Given the description of an element on the screen output the (x, y) to click on. 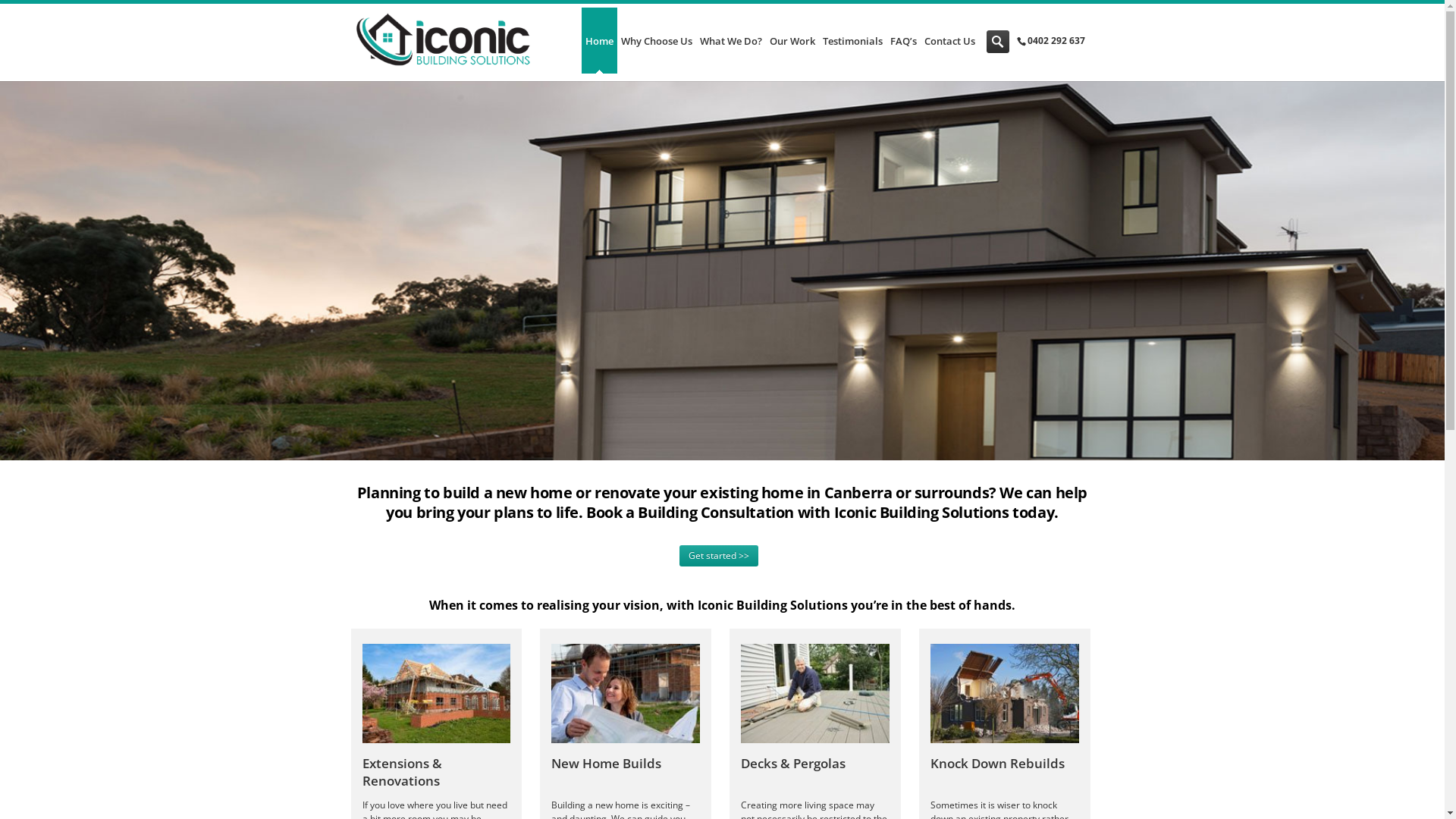
What We Do? Element type: text (730, 40)
Extensions & Renovations Element type: text (402, 772)
Our Work Element type: text (791, 40)
Knock Down Rebuilds Element type: text (997, 762)
Get started >> Element type: text (718, 555)
New Home Builds Element type: text (606, 762)
Why Choose Us Element type: text (655, 40)
Home Element type: text (599, 40)
Contact Us Element type: text (948, 40)
Decks & Pergolas Element type: text (792, 762)
Testimonials Element type: text (851, 40)
